Given the description of an element on the screen output the (x, y) to click on. 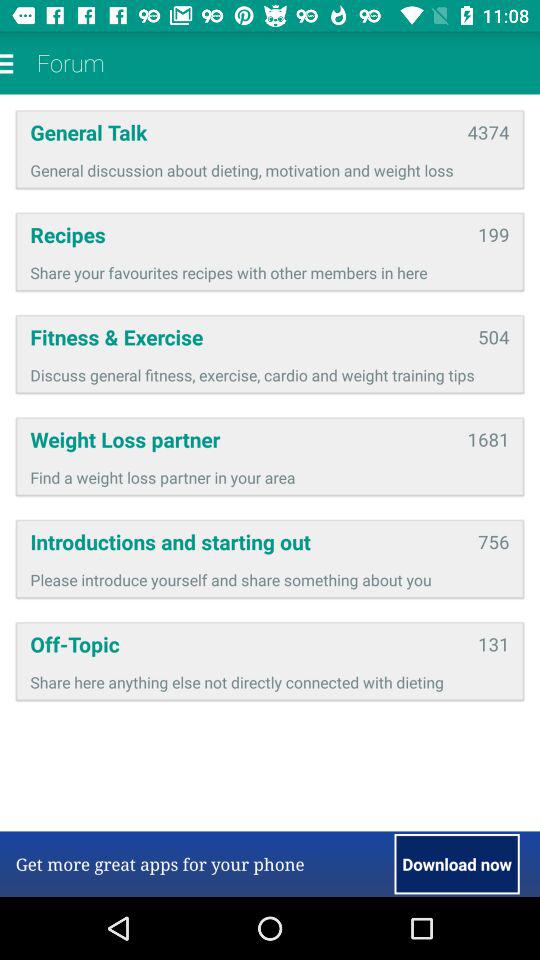
turn off the item next to the get more great item (456, 863)
